Given the description of an element on the screen output the (x, y) to click on. 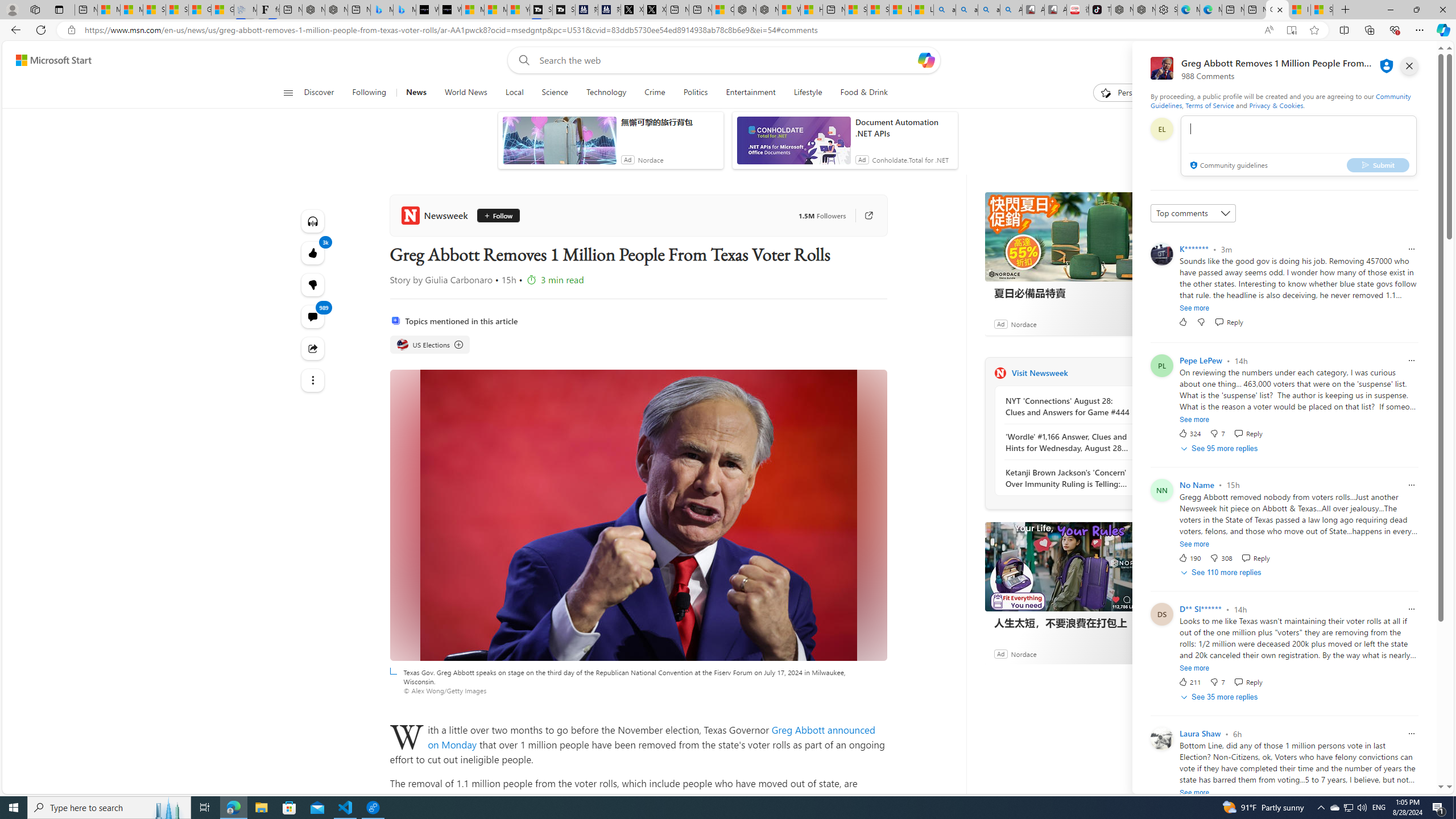
Greg Abbott Removes 1 Million People From Texas Voter Rolls (1276, 9)
Visit Newsweek website (1140, 372)
Nordace Siena Pro 15 Backpack (1144, 9)
Privacy & Cookies (1276, 104)
TikTok (1099, 9)
See 110 more replies (1221, 572)
